Given the description of an element on the screen output the (x, y) to click on. 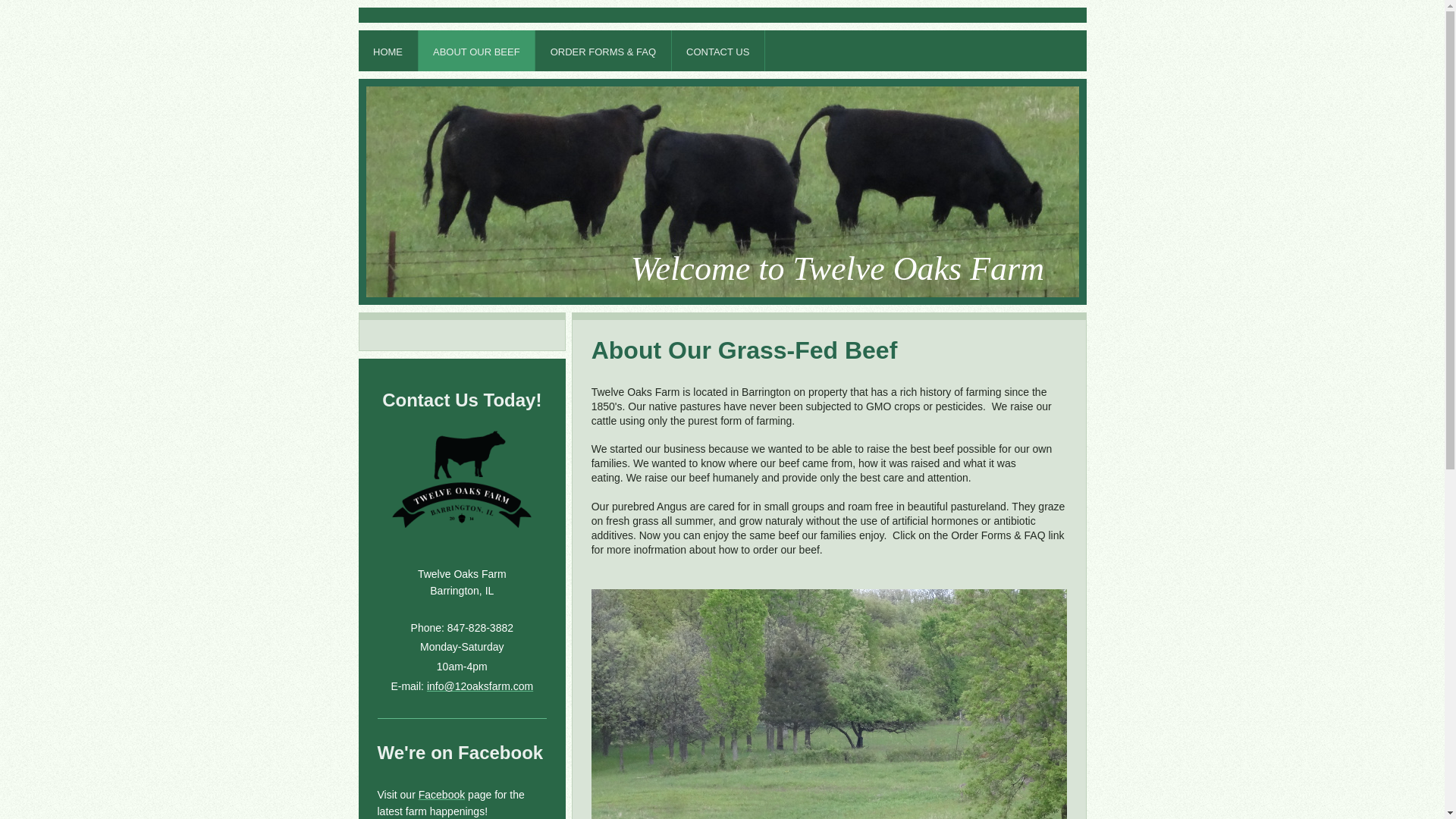
ORDER FORMS & FAQ Element type: text (603, 50)
ABOUT OUR BEEF Element type: text (477, 50)
HOME Element type: text (387, 50)
Facebook Element type: text (441, 794)
info@12oaksfarm.com Element type: text (479, 686)
CONTACT US Element type: text (718, 50)
